Given the description of an element on the screen output the (x, y) to click on. 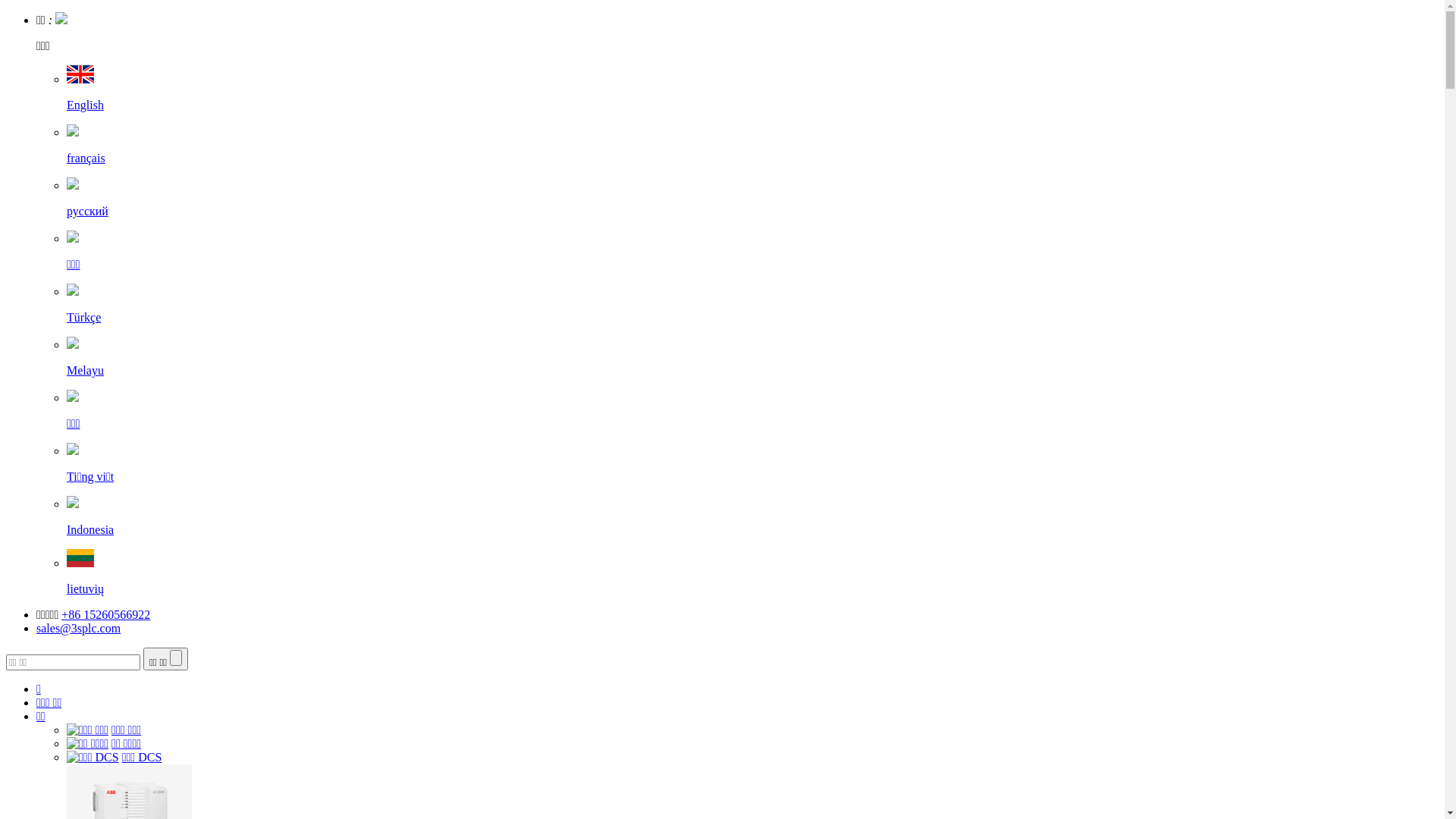
Melayu Element type: text (752, 357)
sales@3splc.com Element type: text (78, 627)
Indonesia Element type: text (752, 516)
English Element type: text (752, 92)
+86 15260566922 Element type: text (105, 614)
